Given the description of an element on the screen output the (x, y) to click on. 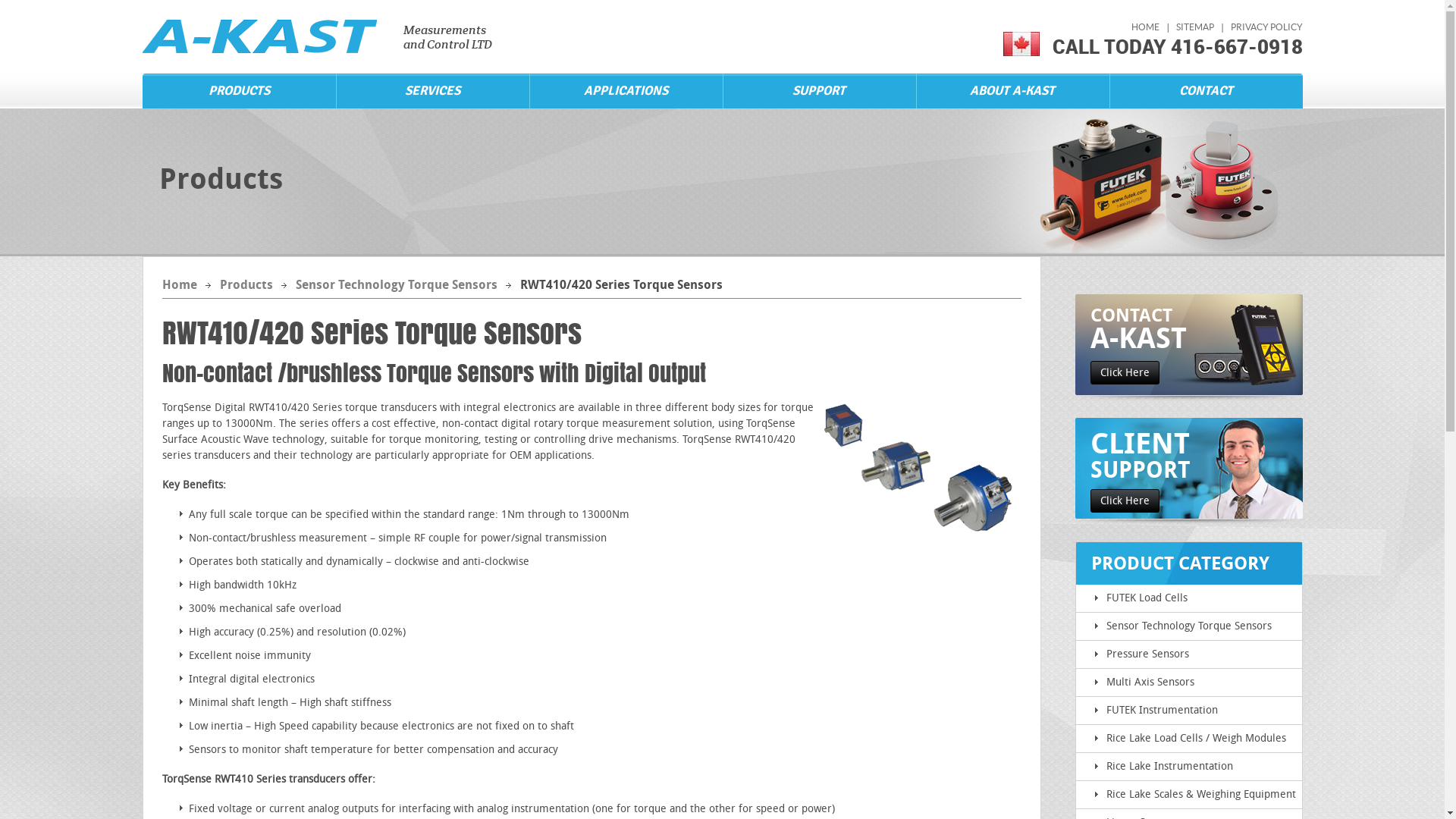
Products Element type: text (246, 284)
FUTEK Load Cells Element type: text (1145, 597)
SITEMAP Element type: text (1195, 26)
Rice Lake Scales & Weighing Equipment Element type: text (1200, 793)
Multi Axis Sensors Element type: text (1149, 681)
Sensor Technology Torque Sensors Element type: text (1187, 625)
ABOUT A-KAST Element type: text (1012, 90)
HOME Element type: text (1145, 26)
SERVICES Element type: text (431, 90)
Rice Lake Instrumentation Element type: text (1168, 765)
SUPPORT Element type: text (818, 90)
Home Element type: text (179, 284)
PRODUCTS Element type: text (238, 90)
Sensor Technology Torque Sensors Element type: text (396, 284)
FUTEK Instrumentation Element type: text (1161, 709)
Click Here Element type: text (1124, 500)
Rice Lake Load Cells / Weigh Modules Element type: text (1195, 737)
PRIVACY POLICY Element type: text (1266, 26)
CONTACT Element type: text (1205, 90)
APPLICATIONS Element type: text (625, 90)
Click Here Element type: text (1124, 372)
Pressure Sensors Element type: text (1146, 653)
